Given the description of an element on the screen output the (x, y) to click on. 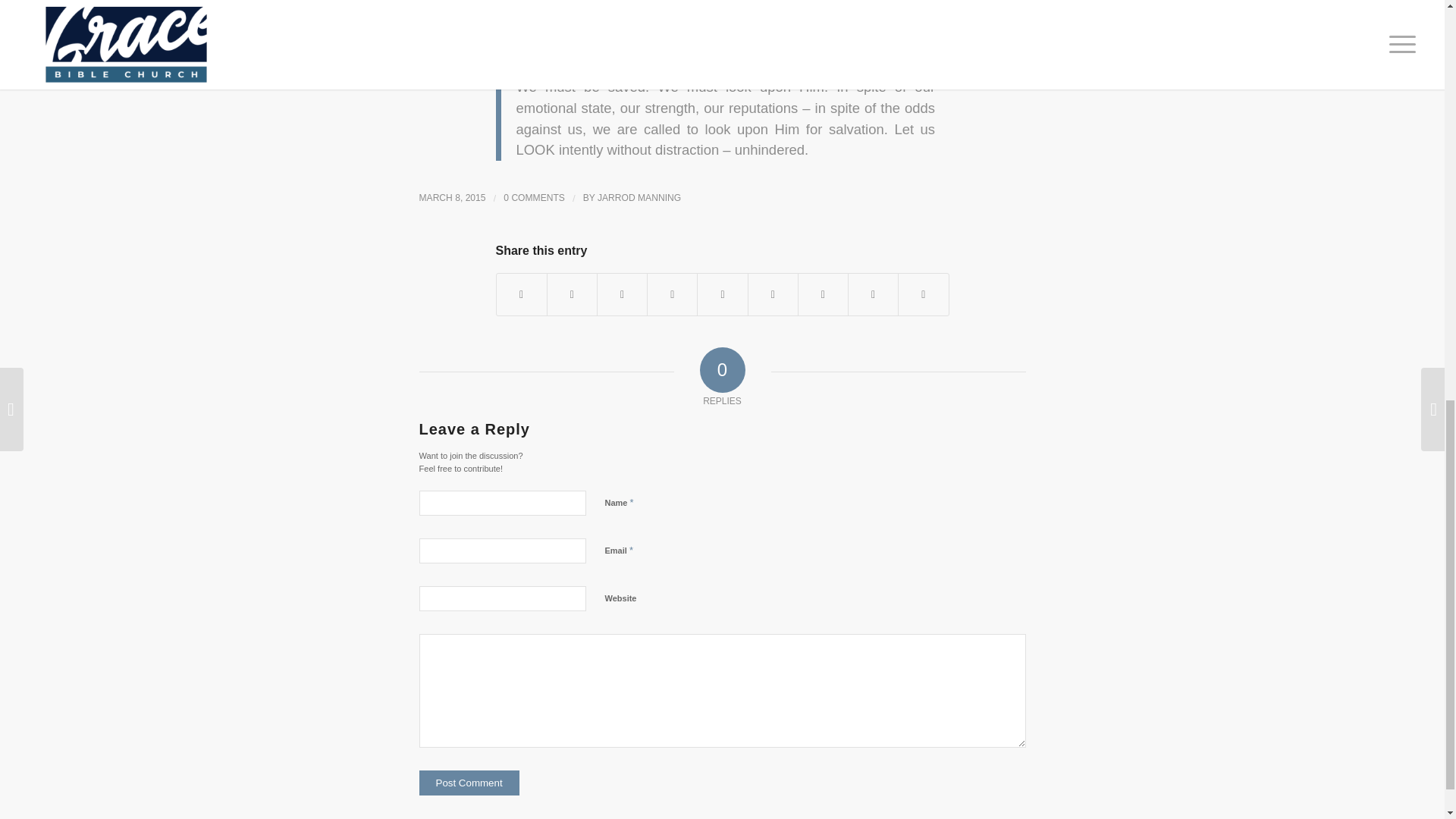
Post Comment (468, 782)
Post Comment (468, 782)
Posts by Jarrod Manning (638, 197)
JARROD MANNING (638, 197)
0 COMMENTS (533, 197)
